Given the description of an element on the screen output the (x, y) to click on. 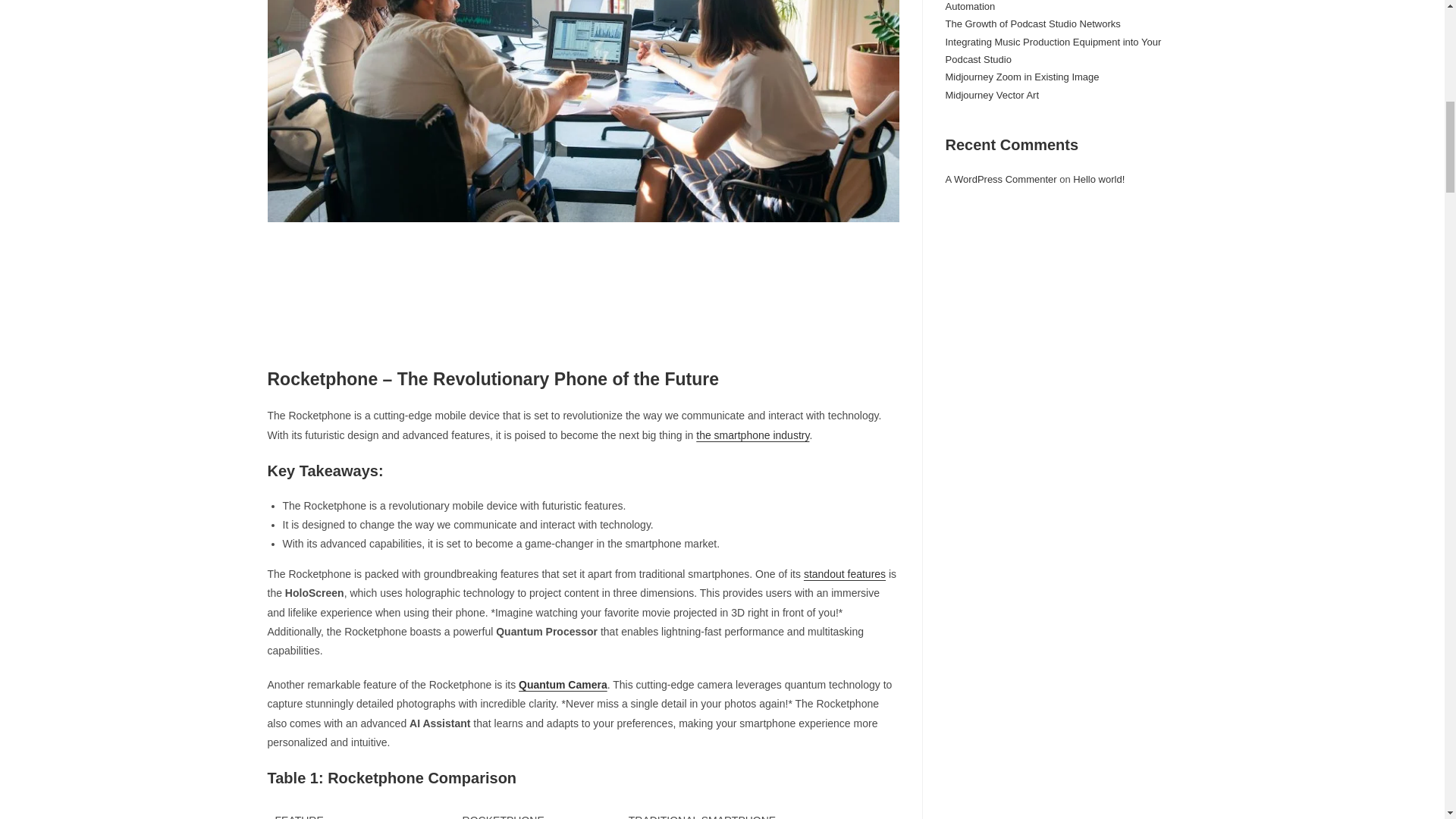
The Growth of Podcast Studio Networks (1031, 23)
Quantum Camera (562, 684)
the smartphone industry (752, 435)
standout features (844, 573)
Streamlining Your Podcast Production with Studio Automation (1052, 5)
